Given the description of an element on the screen output the (x, y) to click on. 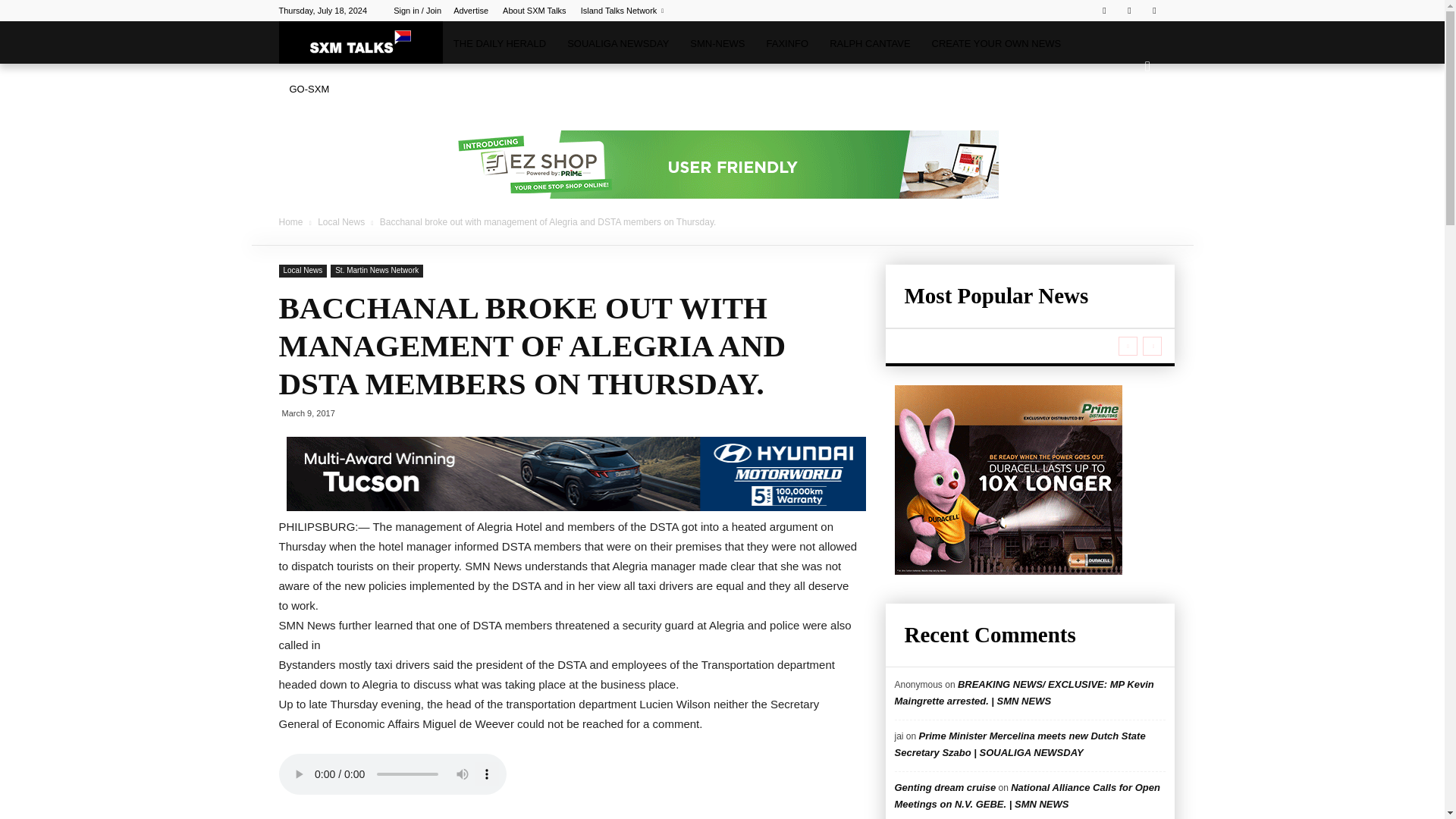
Facebook (1104, 10)
Youtube (1154, 10)
About SXM Talks (534, 10)
View all posts in Local News (341, 222)
FAXINFO (787, 43)
Island Talks Network (621, 10)
Twitter (1129, 10)
Advertise (469, 10)
THE DAILY HERALD (499, 43)
SOUALIGA NEWSDAY (617, 43)
RALPH CANTAVE (869, 43)
SMN-NEWS (717, 43)
SXM Talks (360, 42)
